Given the description of an element on the screen output the (x, y) to click on. 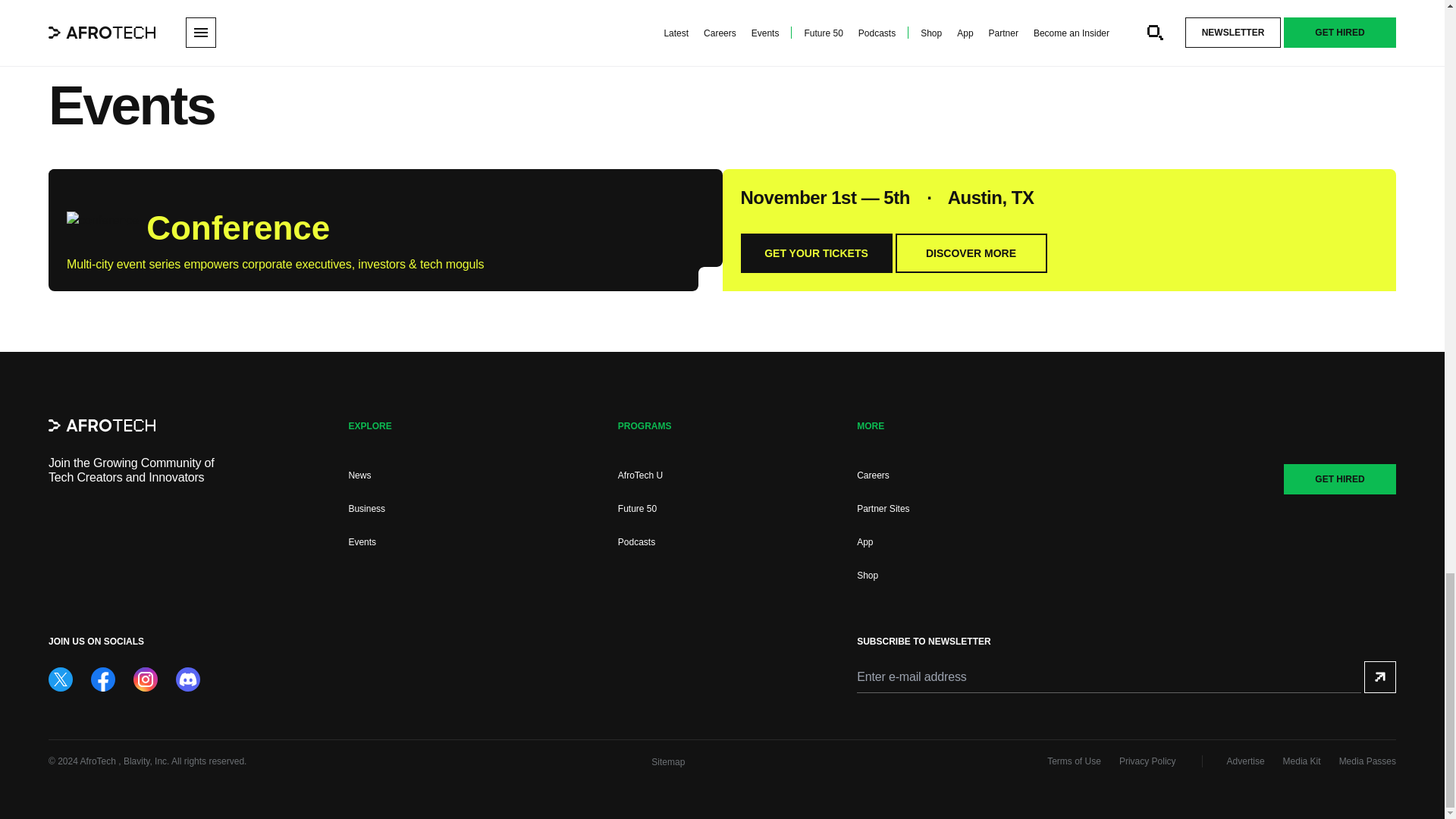
conference (102, 225)
News (359, 475)
Events (361, 542)
Podcasts (636, 542)
Business (366, 508)
Careers (873, 475)
Future 50 (636, 508)
Partner Sites (882, 508)
GET YOUR TICKETS (815, 252)
DISCOVER MORE (970, 252)
